Given the description of an element on the screen output the (x, y) to click on. 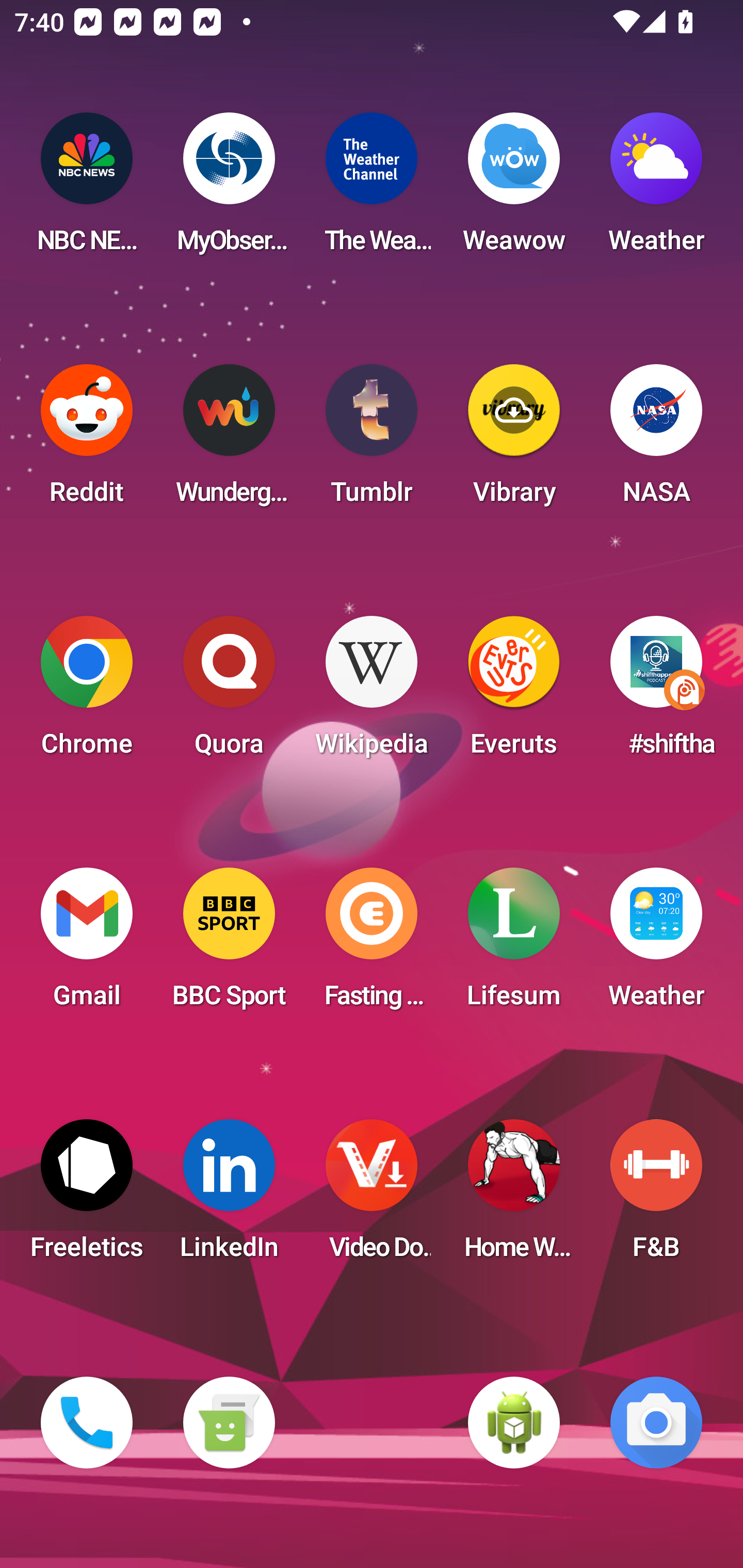
NBC NEWS (86, 188)
MyObservatory (228, 188)
The Weather Channel (371, 188)
Weawow (513, 188)
Weather (656, 188)
Reddit (86, 440)
Wunderground (228, 440)
Tumblr (371, 440)
Vibrary (513, 440)
NASA (656, 440)
Chrome (86, 692)
Quora (228, 692)
Wikipedia (371, 692)
Everuts (513, 692)
#shifthappens in the Digital Workplace Podcast (656, 692)
Gmail (86, 943)
BBC Sport (228, 943)
Fasting Coach (371, 943)
Lifesum (513, 943)
Weather (656, 943)
Freeletics (86, 1195)
LinkedIn (228, 1195)
Video Downloader & Ace Player (371, 1195)
Home Workout (513, 1195)
F&B (656, 1195)
Phone (86, 1422)
Messaging (228, 1422)
WebView Browser Tester (513, 1422)
Camera (656, 1422)
